Given the description of an element on the screen output the (x, y) to click on. 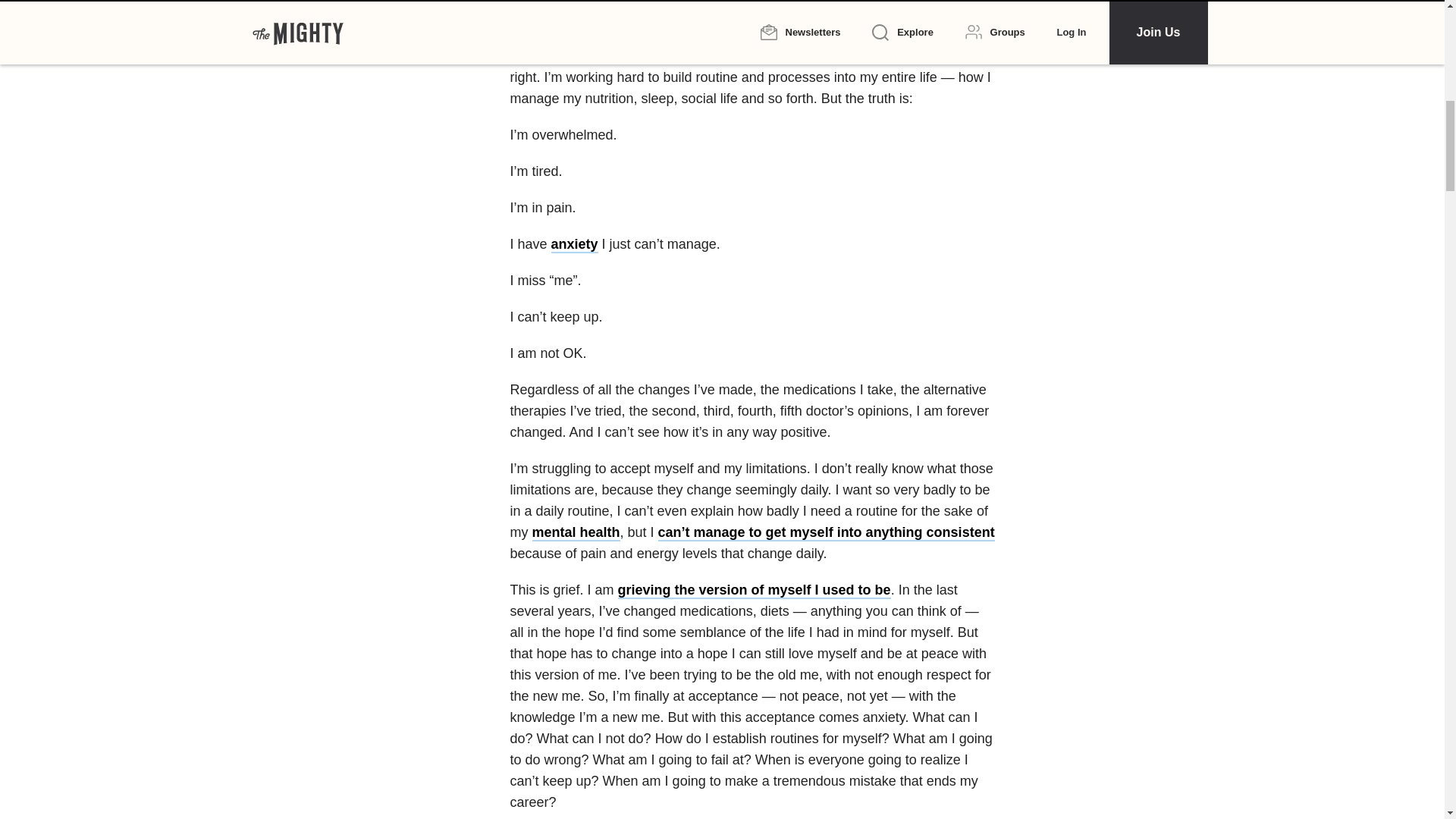
grieving the version of myself I used to be (754, 590)
mental health (576, 532)
anxiety (574, 244)
